Given the description of an element on the screen output the (x, y) to click on. 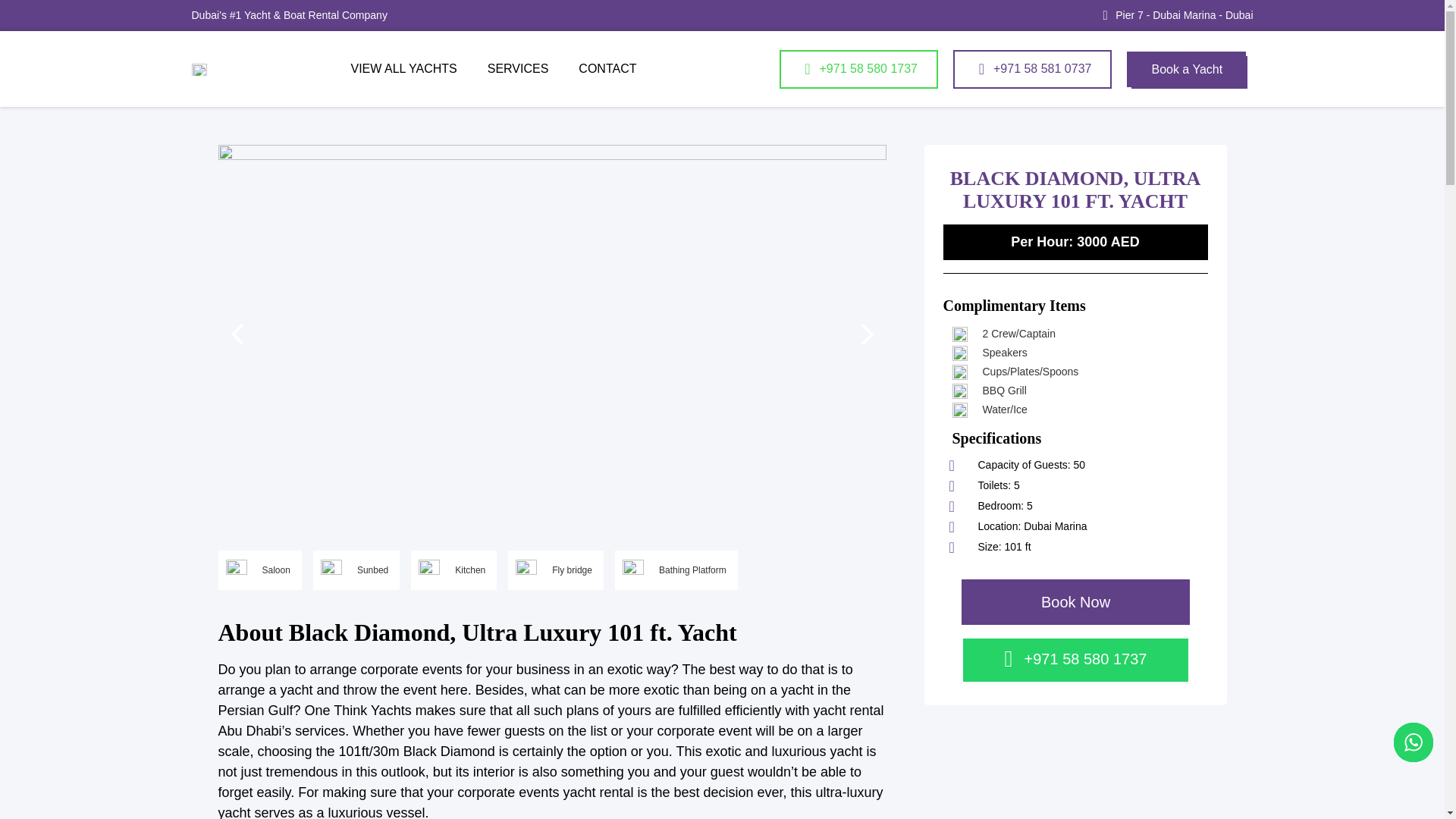
SERVICES (517, 69)
CONTACT (606, 69)
Pier 7 - Dubai Marina - Dubai (1183, 15)
VIEW ALL YACHTS (402, 69)
